Given the description of an element on the screen output the (x, y) to click on. 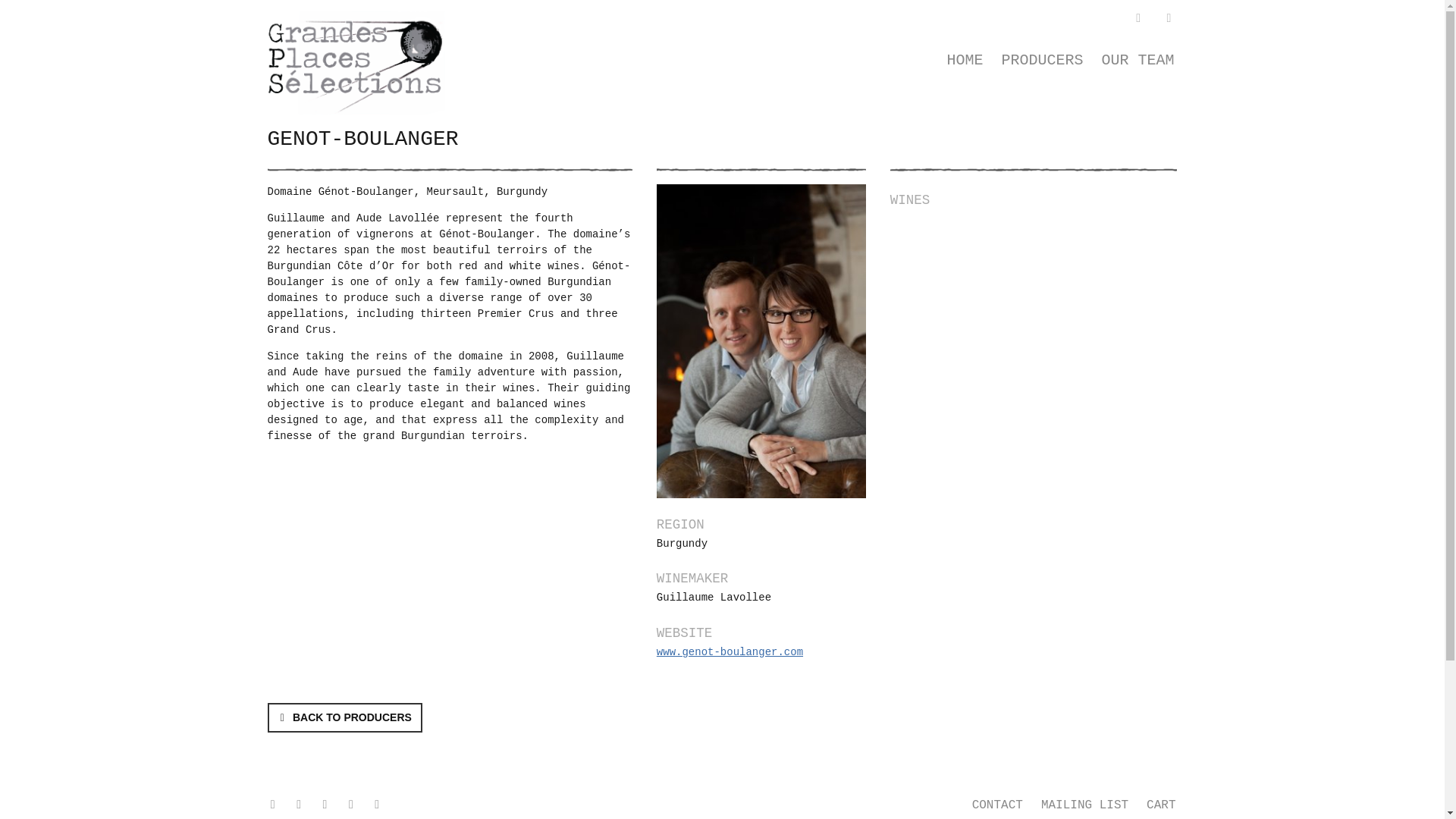
PRODUCERS (1041, 60)
BACK TO PRODUCERS (344, 717)
www.genot-boulanger.com (729, 652)
OUR TEAM (1137, 60)
CONTACT (996, 805)
CART (1160, 805)
HOME (964, 60)
MAILING LIST (1084, 805)
